Given the description of an element on the screen output the (x, y) to click on. 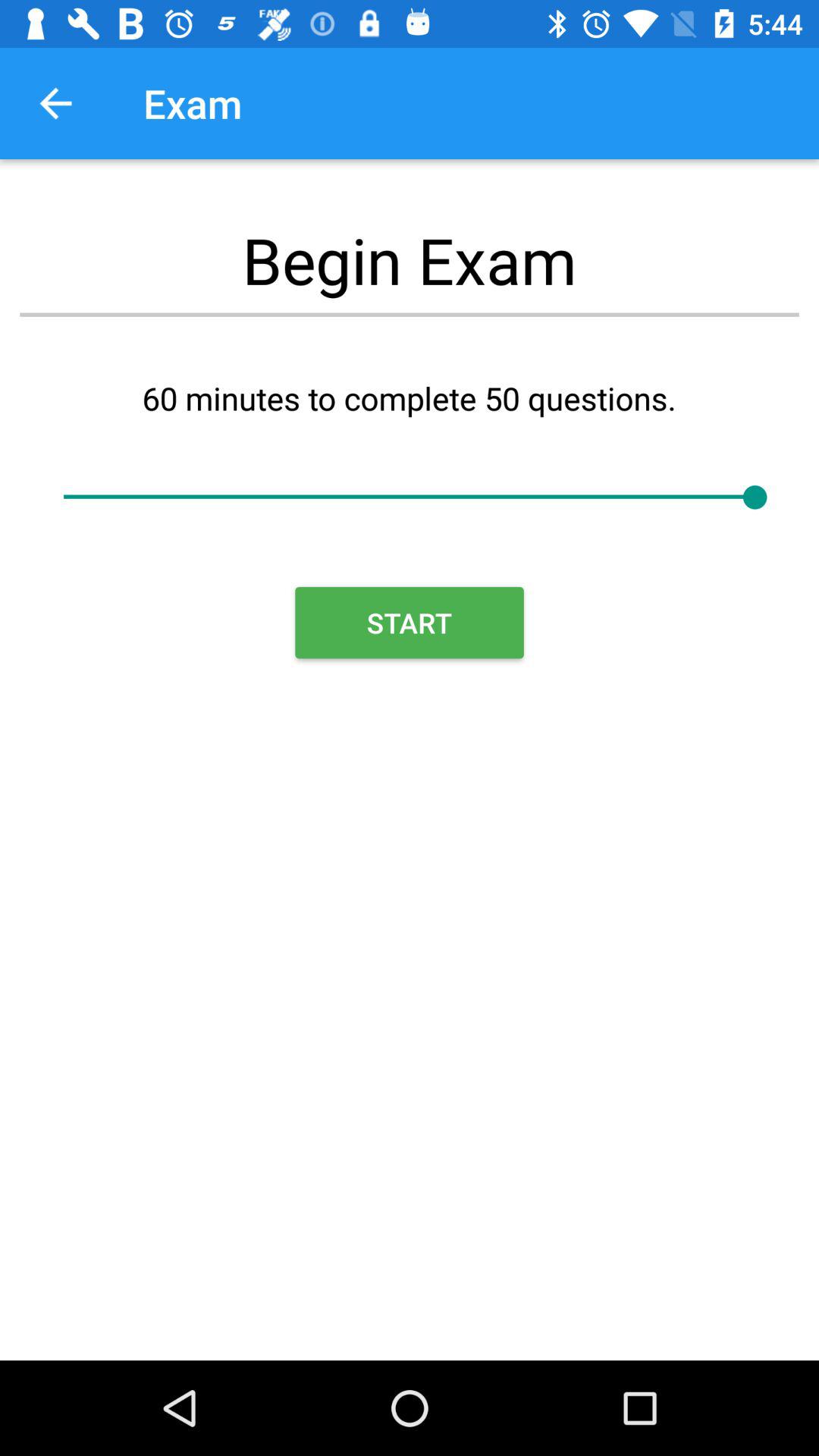
select the item to the left of the exam icon (55, 103)
